Given the description of an element on the screen output the (x, y) to click on. 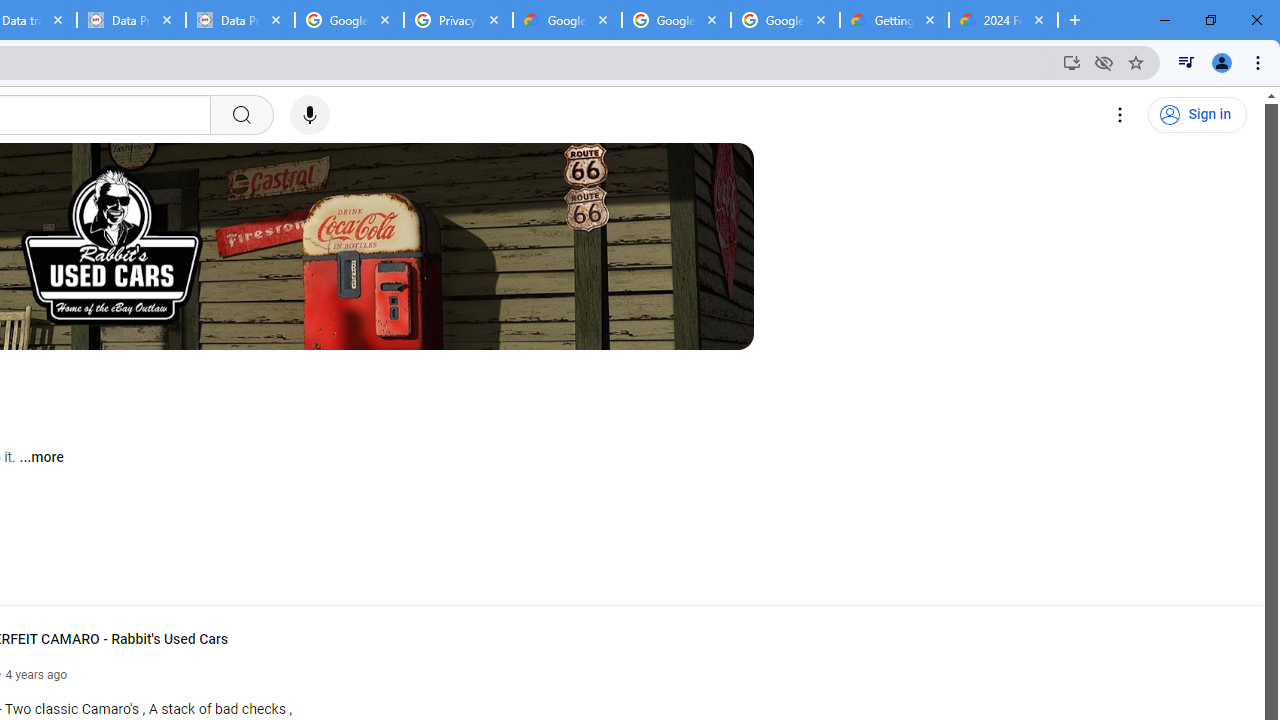
Search with your voice (309, 115)
Install YouTube (1071, 62)
Google Workspace - Specific Terms (784, 20)
Data Privacy Framework (130, 20)
